Given the description of an element on the screen output the (x, y) to click on. 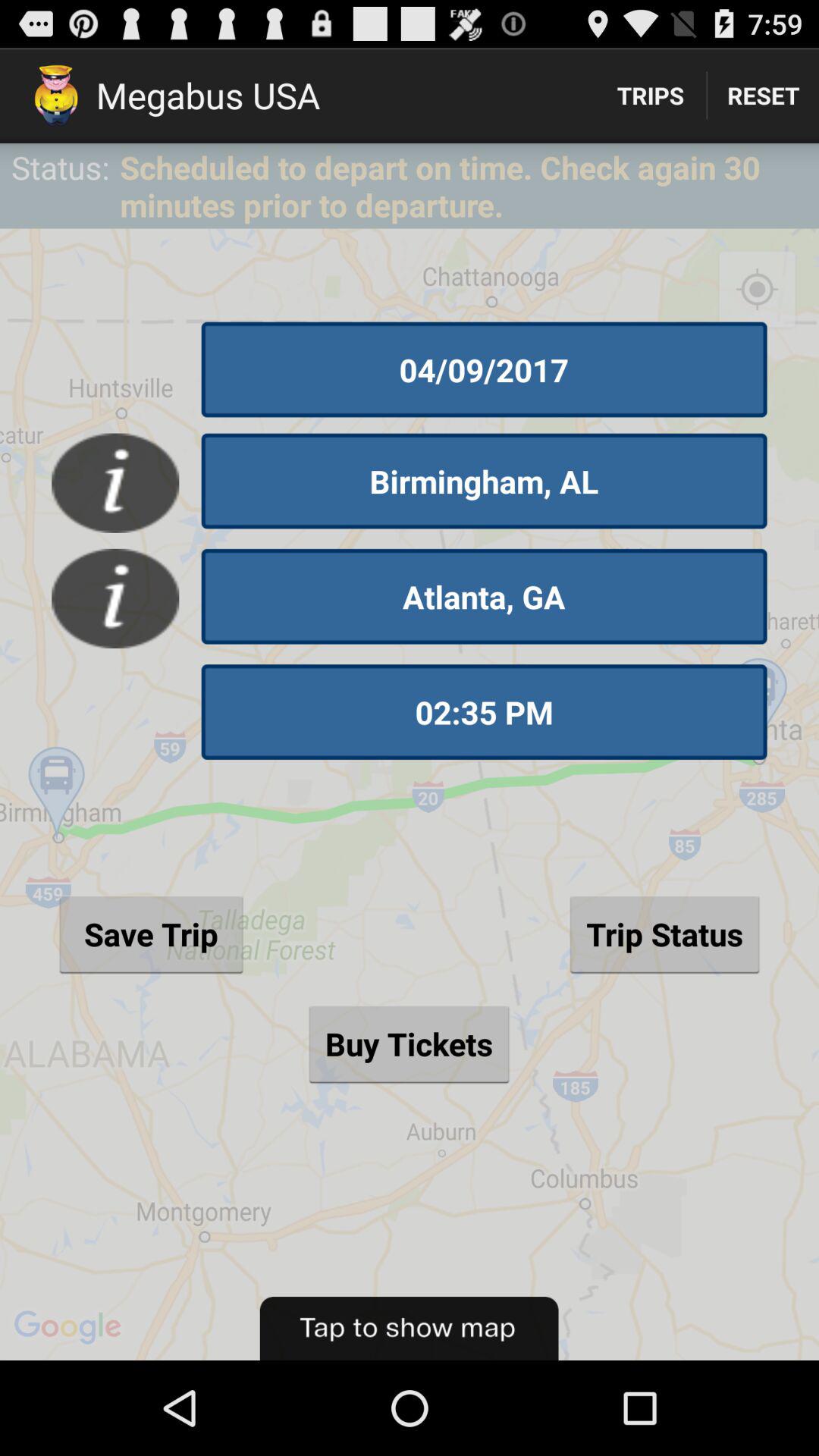
launch the item next to the atlanta, ga item (115, 598)
